Given the description of an element on the screen output the (x, y) to click on. 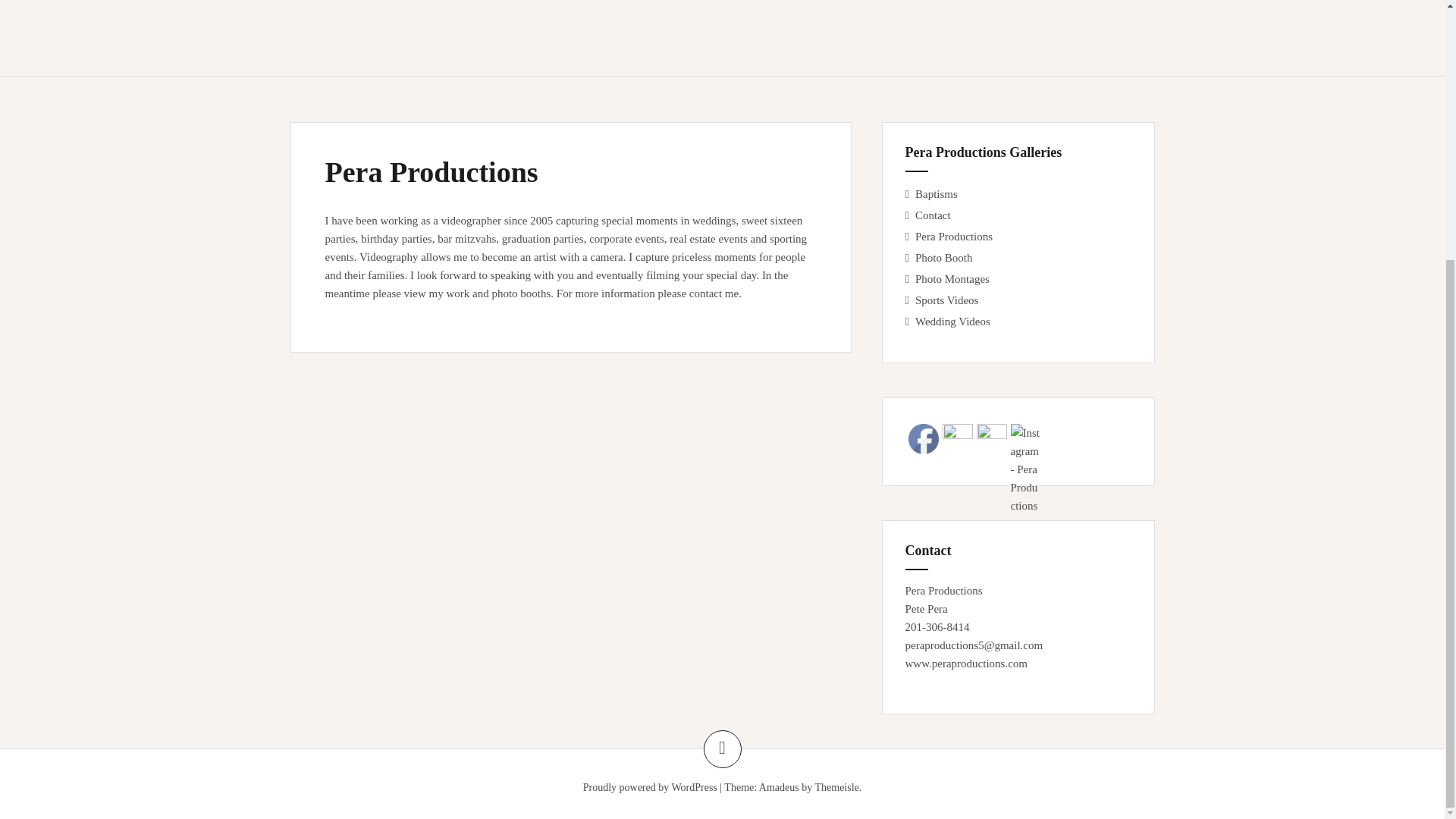
Pera Productions (953, 236)
Facebook - Pera Productions (923, 439)
Photo Montages (952, 278)
Amadeus (778, 787)
Contact (932, 215)
Proudly powered by WordPress (650, 787)
www.peraproductions.com (966, 663)
Wedding Videos (952, 321)
Sports Videos (946, 300)
Photo Booth (943, 257)
